Given the description of an element on the screen output the (x, y) to click on. 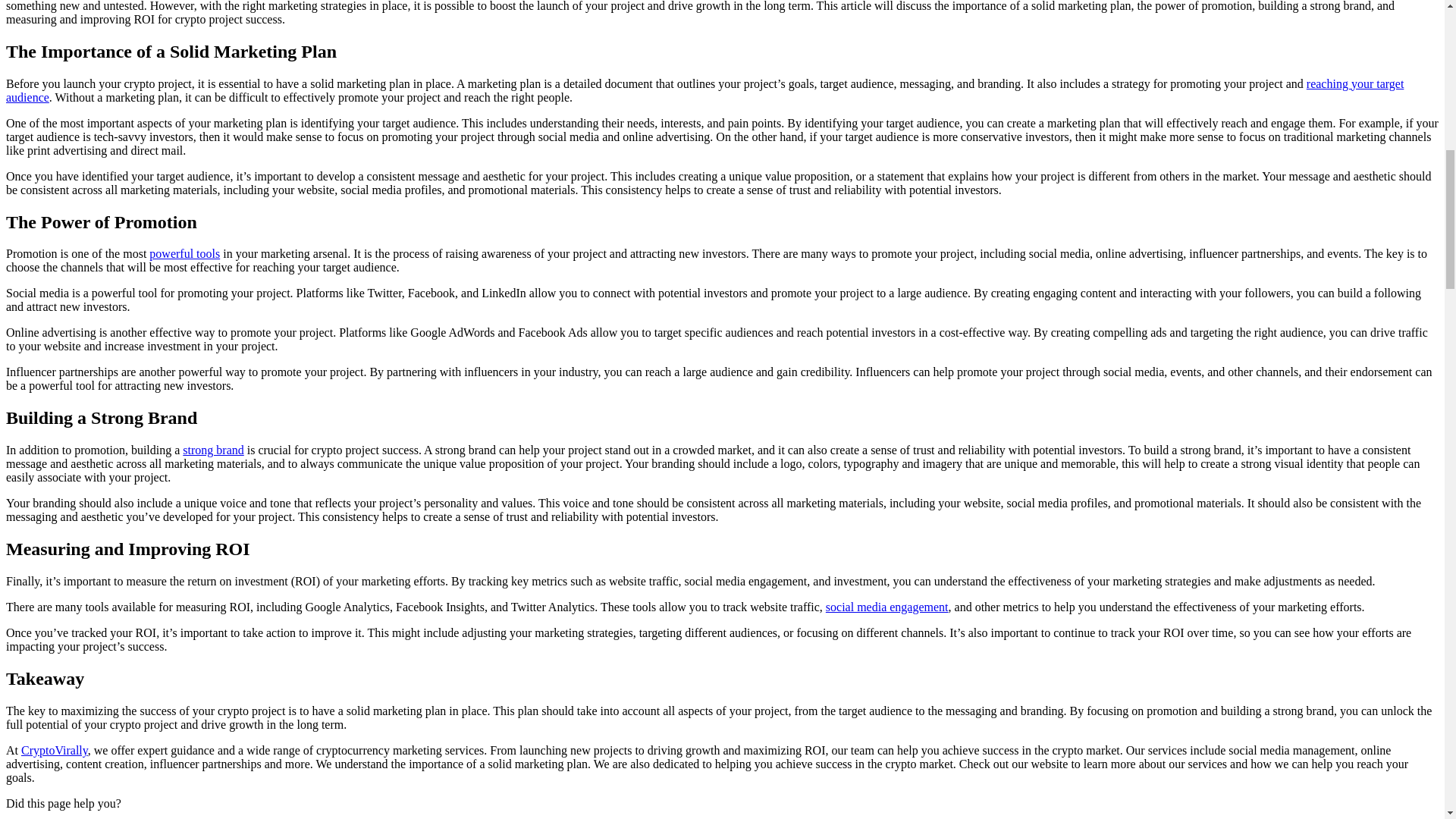
CryptoVirally (54, 749)
social media engagement (887, 606)
powerful tools (184, 253)
reaching your target audience (704, 90)
strong brand (213, 449)
